Given the description of an element on the screen output the (x, y) to click on. 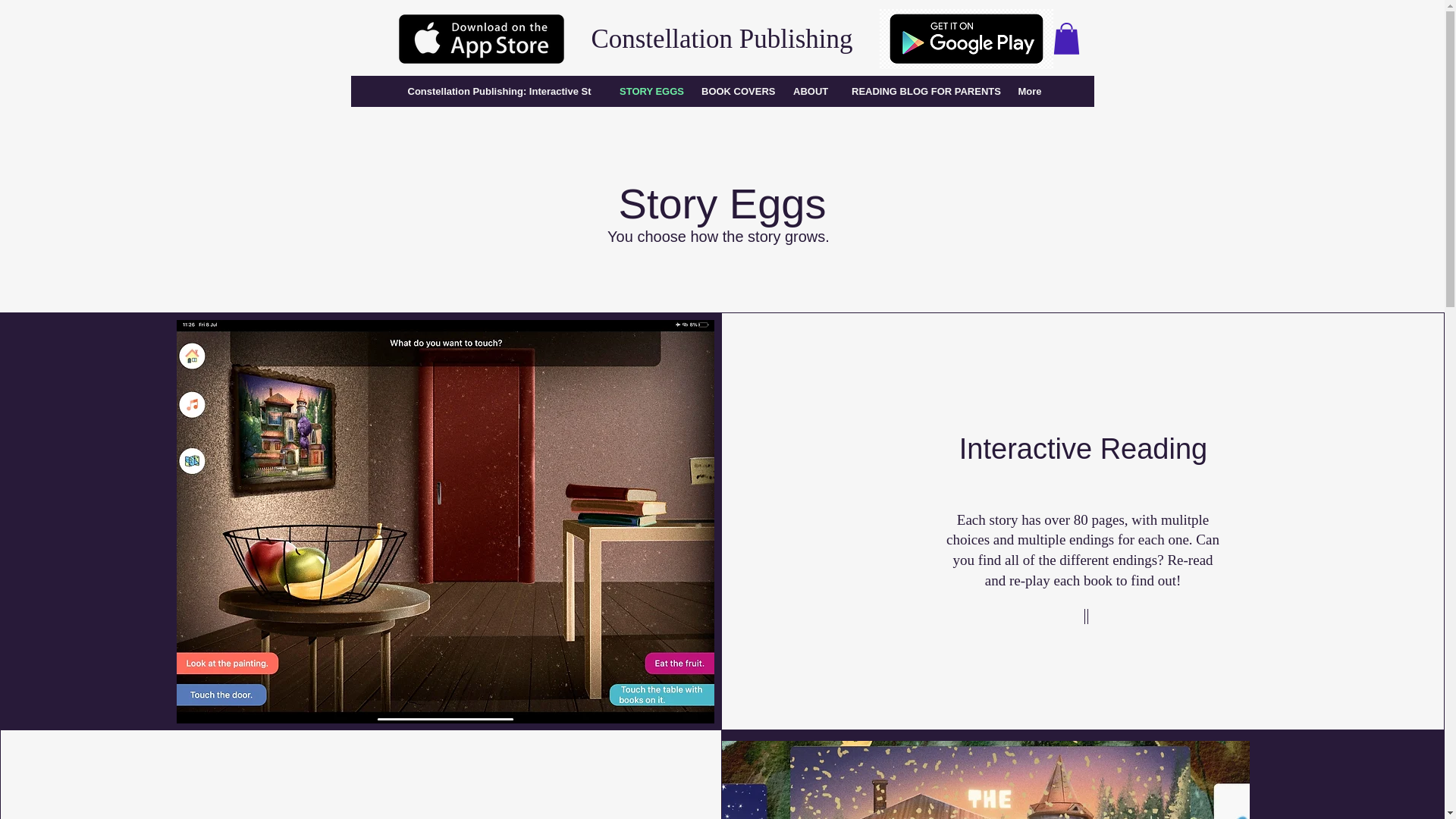
BOOK COVERS (734, 91)
ABOUT (810, 91)
Constellation Publishing: Interactive St (498, 91)
Constellation Publishing (721, 39)
READING BLOG FOR PARENTS (922, 91)
STORY EGGS (647, 91)
